Given the description of an element on the screen output the (x, y) to click on. 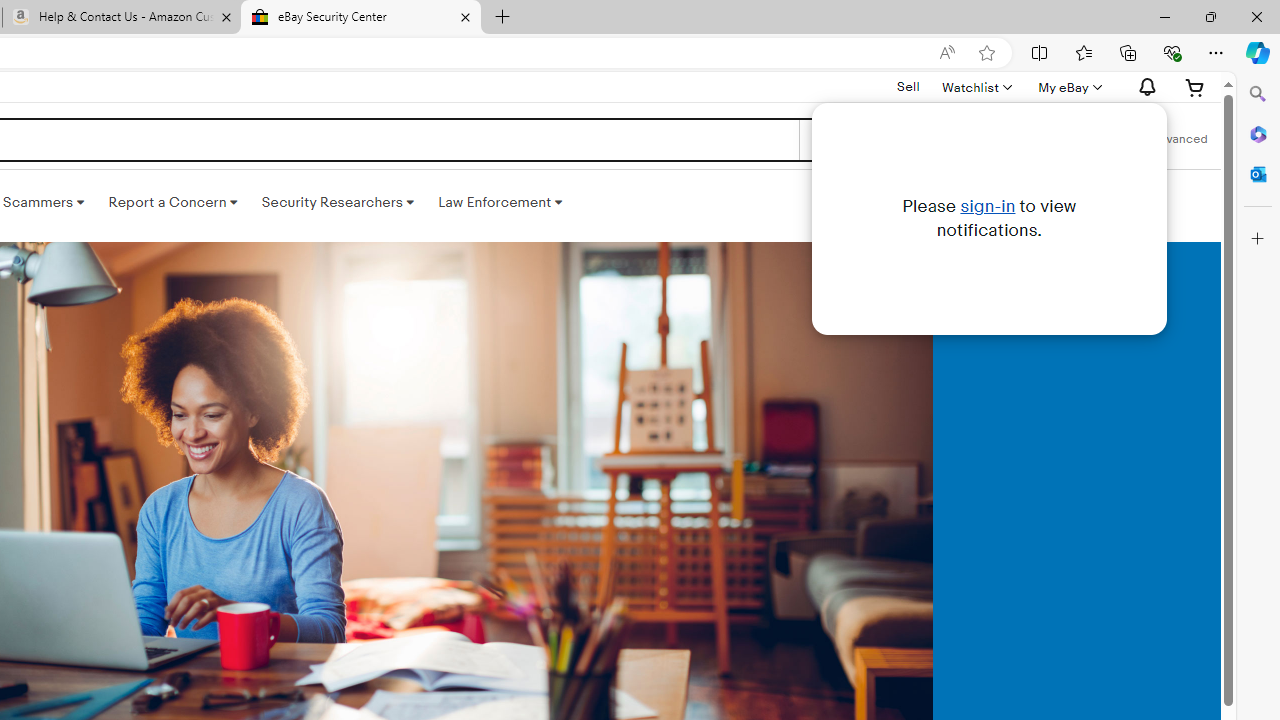
WatchlistExpand Watch List (975, 87)
Please sign-in to view notifications. (989, 218)
Security Researchers  (337, 202)
Watchlist (975, 87)
My eBay (1068, 87)
